Given the description of an element on the screen output the (x, y) to click on. 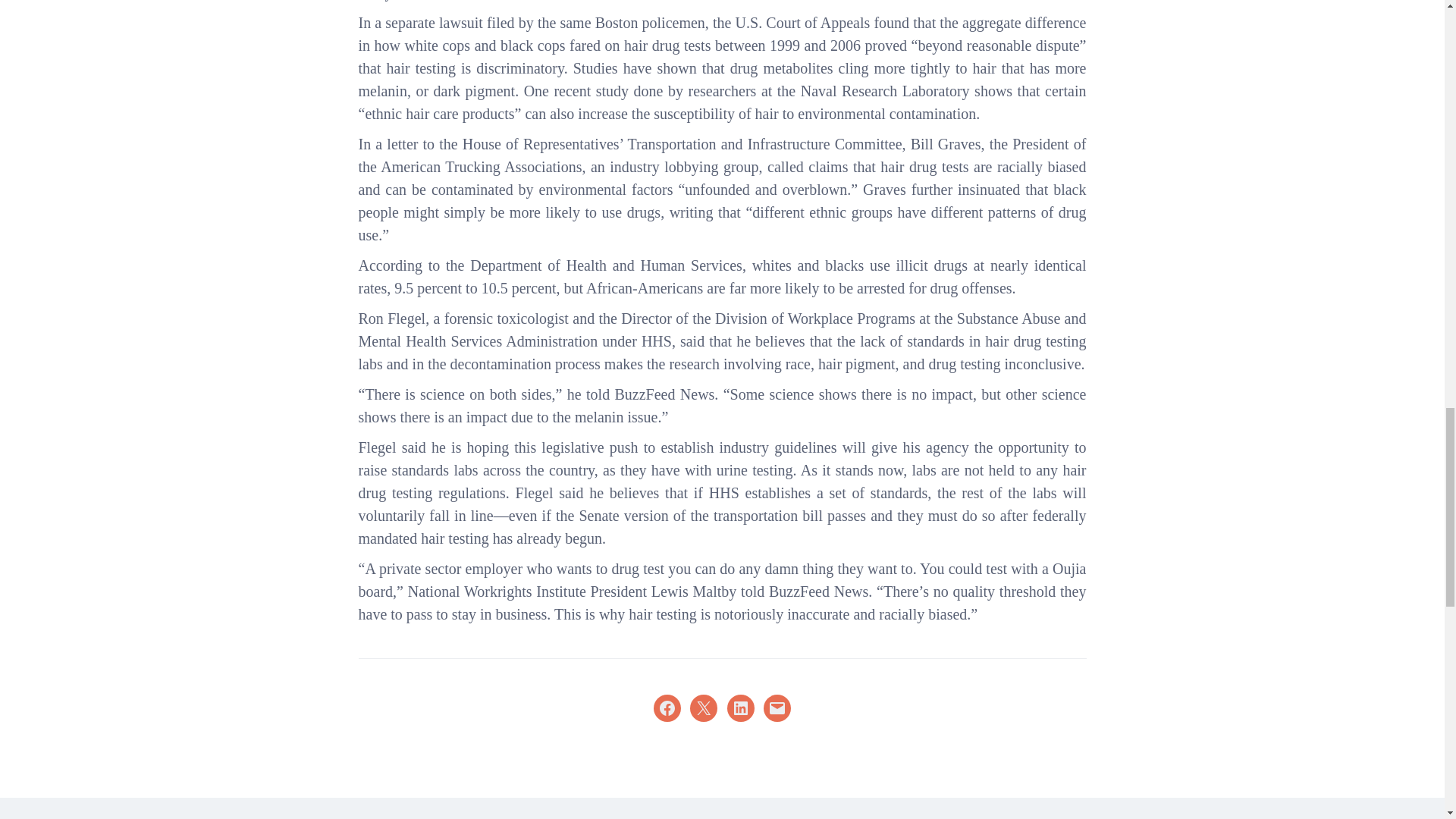
Email this Page (776, 707)
Share on Facebook (667, 707)
Share on X (703, 707)
Share on LinkedIn (740, 707)
